Given the description of an element on the screen output the (x, y) to click on. 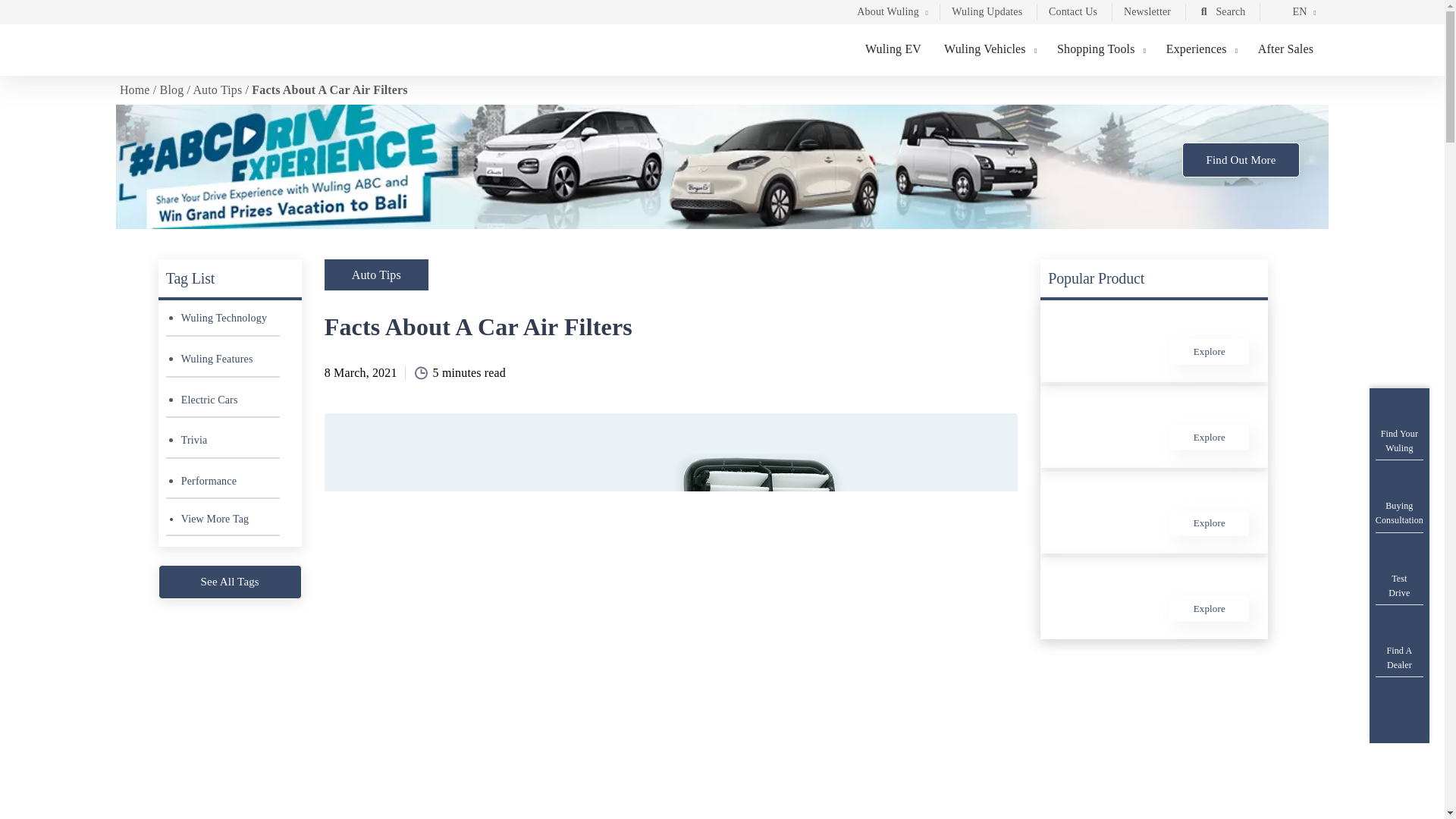
Wuling EV (892, 49)
Wuling Updates (987, 14)
Contact Us (1072, 14)
Search (1221, 14)
Newsletter (1147, 14)
About Wuling (890, 14)
EN (1292, 14)
Wuling Vehicles (988, 49)
